Given the description of an element on the screen output the (x, y) to click on. 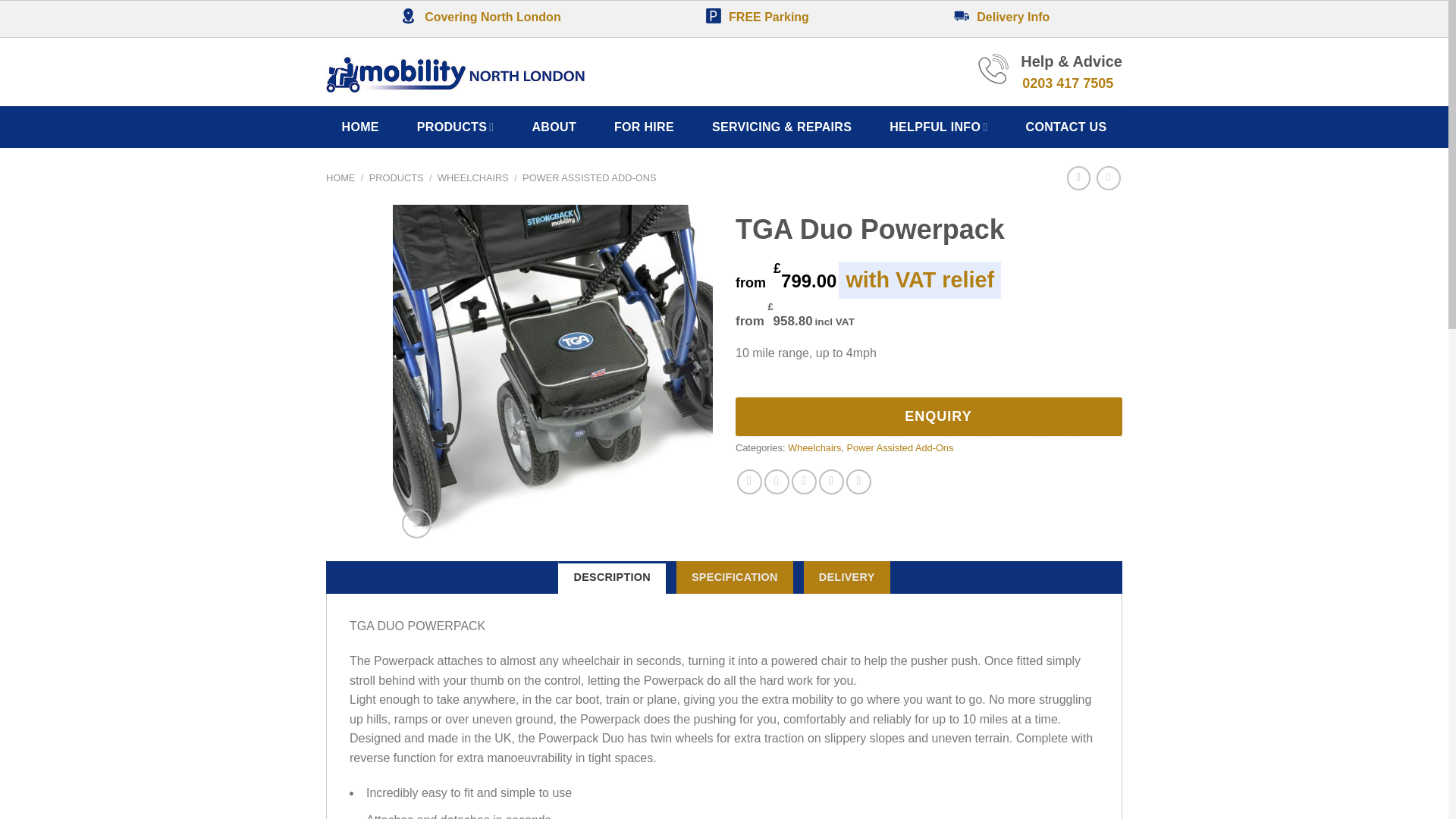
0203 417 7505 (1067, 83)
TGA Duo Powerpack 3 (553, 375)
HOME (360, 127)
HOME (340, 177)
Delivery Info (1001, 16)
ABOUT (553, 127)
TGA Duo Powerpack 5 (1192, 375)
Zoom (415, 523)
CONTACT US (1066, 127)
TGA Duo Powerpack 4 (872, 375)
FOR HIRE (643, 127)
Covering North London (479, 16)
PRODUCTS (455, 127)
HELPFUL INFO (937, 127)
